Given the description of an element on the screen output the (x, y) to click on. 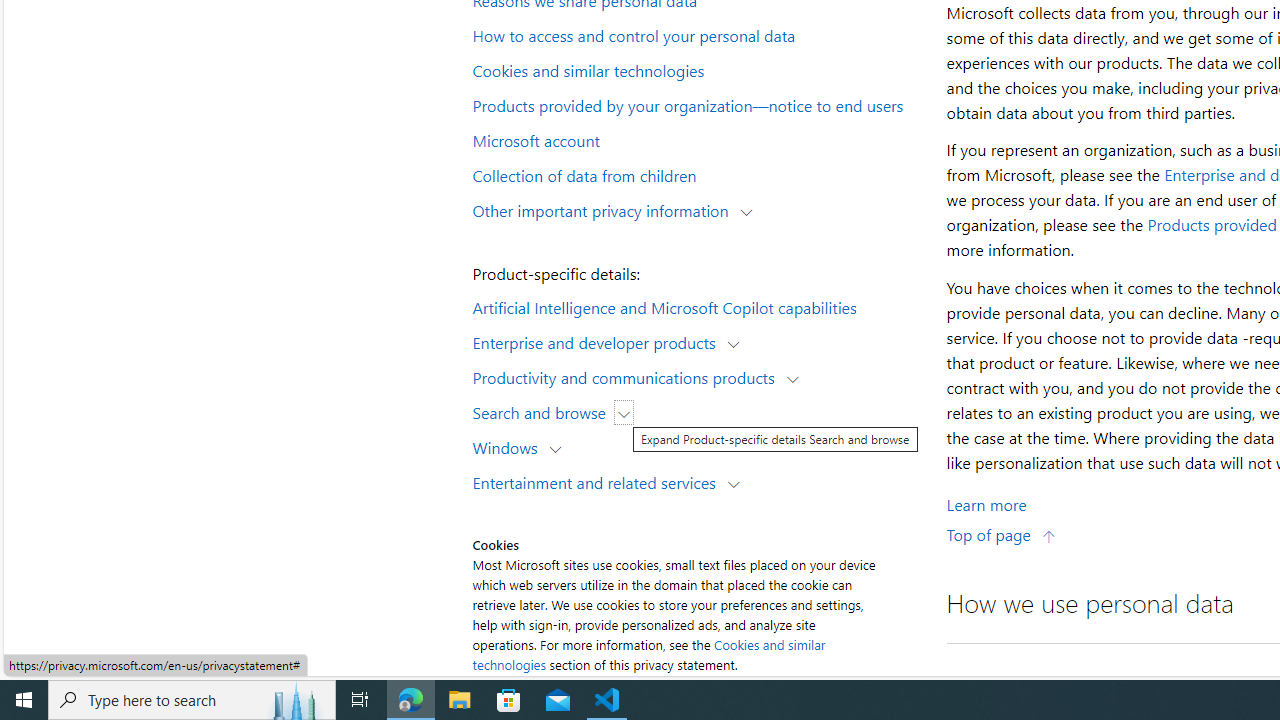
Other important privacy information (605, 209)
